Given the description of an element on the screen output the (x, y) to click on. 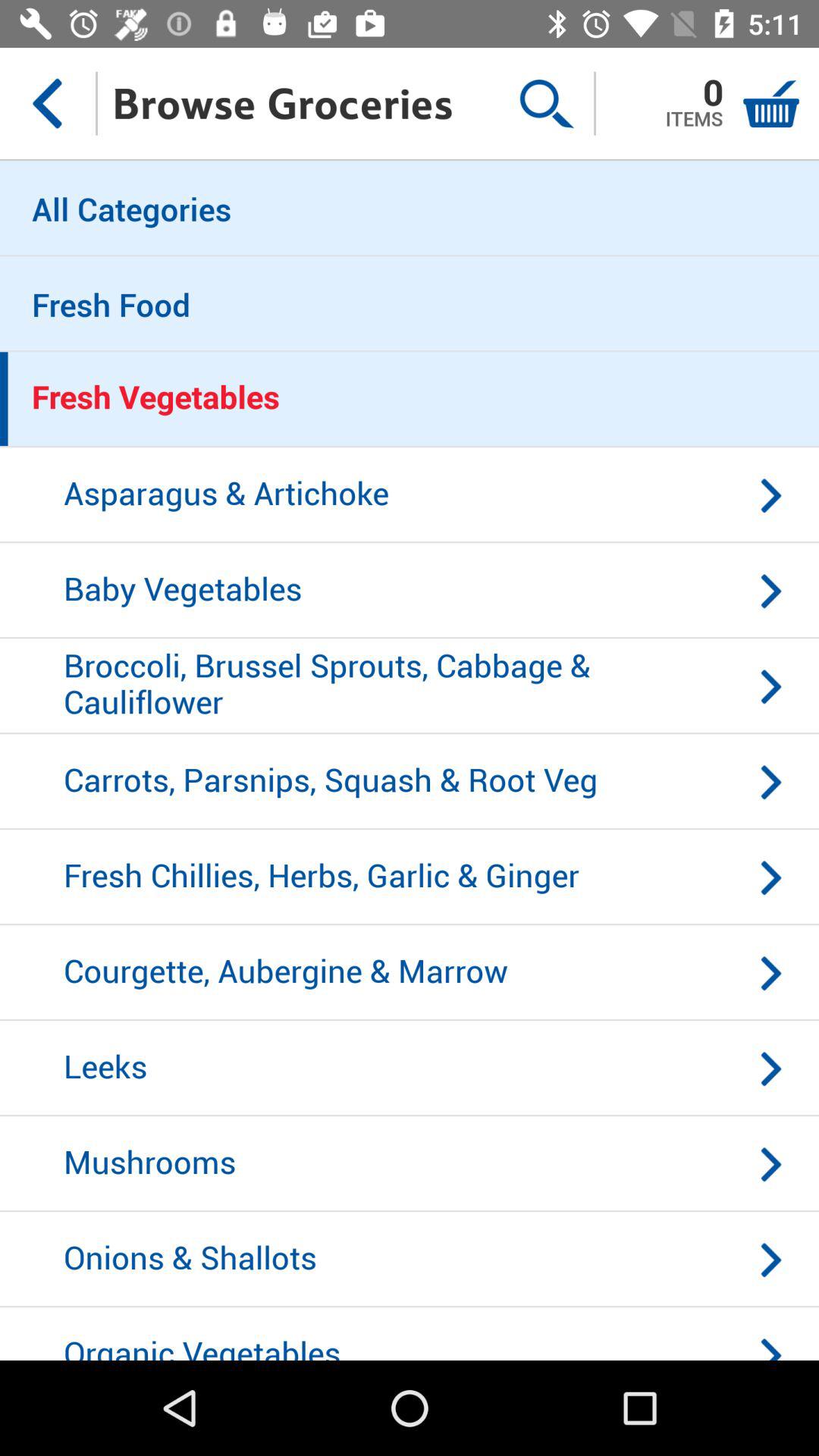
launch the baby vegetables item (409, 590)
